Given the description of an element on the screen output the (x, y) to click on. 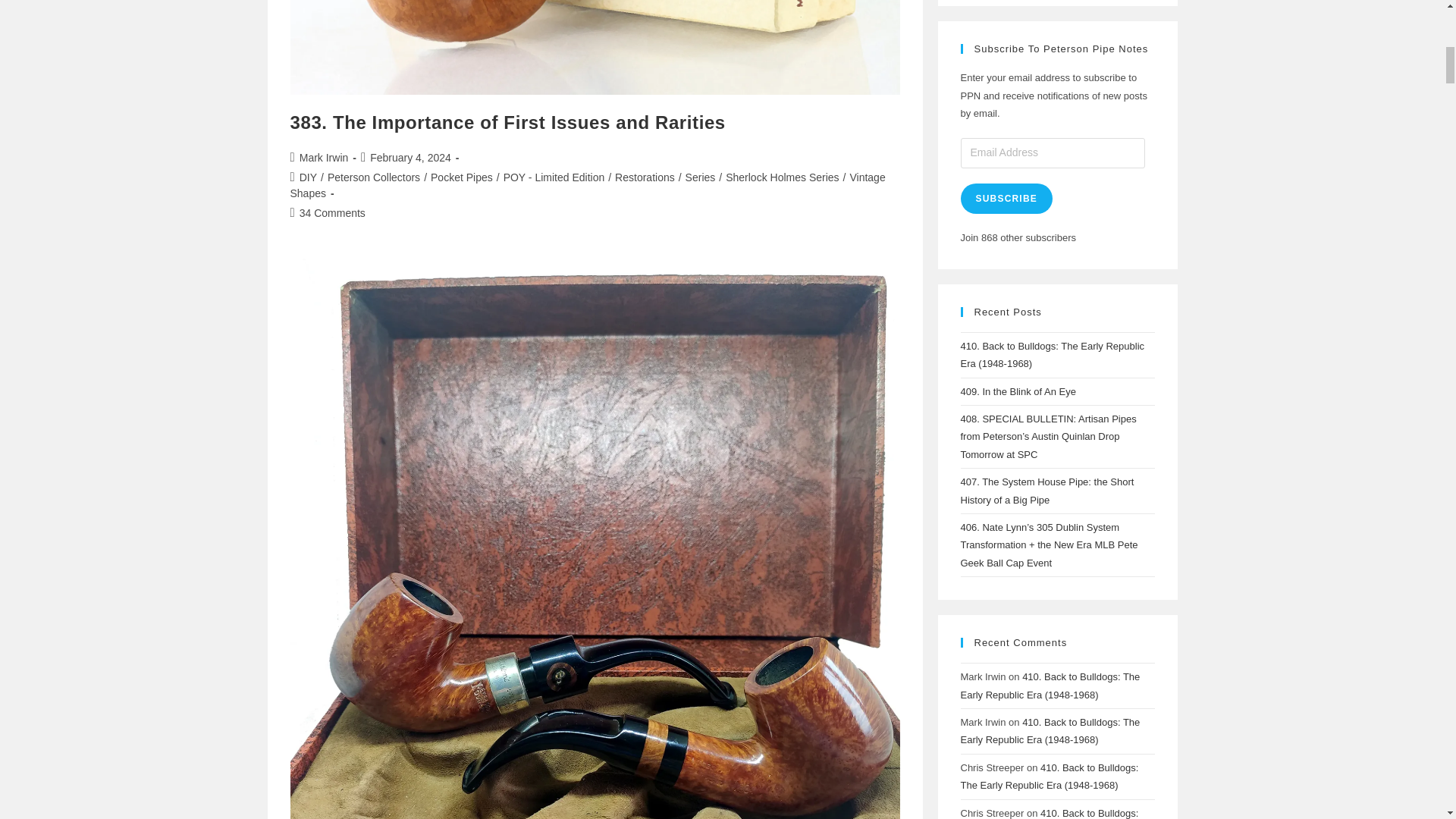
DIY (308, 177)
383. The Importance of First Issues and Rarities (507, 122)
Posts by Mark Irwin (324, 157)
Pocket Pipes (461, 177)
Peterson Collectors (373, 177)
POY - Limited Edition (554, 177)
Vintage Shapes (587, 185)
Sherlock Holmes Series (781, 177)
Series (700, 177)
Restorations (644, 177)
34 Comments (332, 213)
Mark Irwin (324, 157)
